Given the description of an element on the screen output the (x, y) to click on. 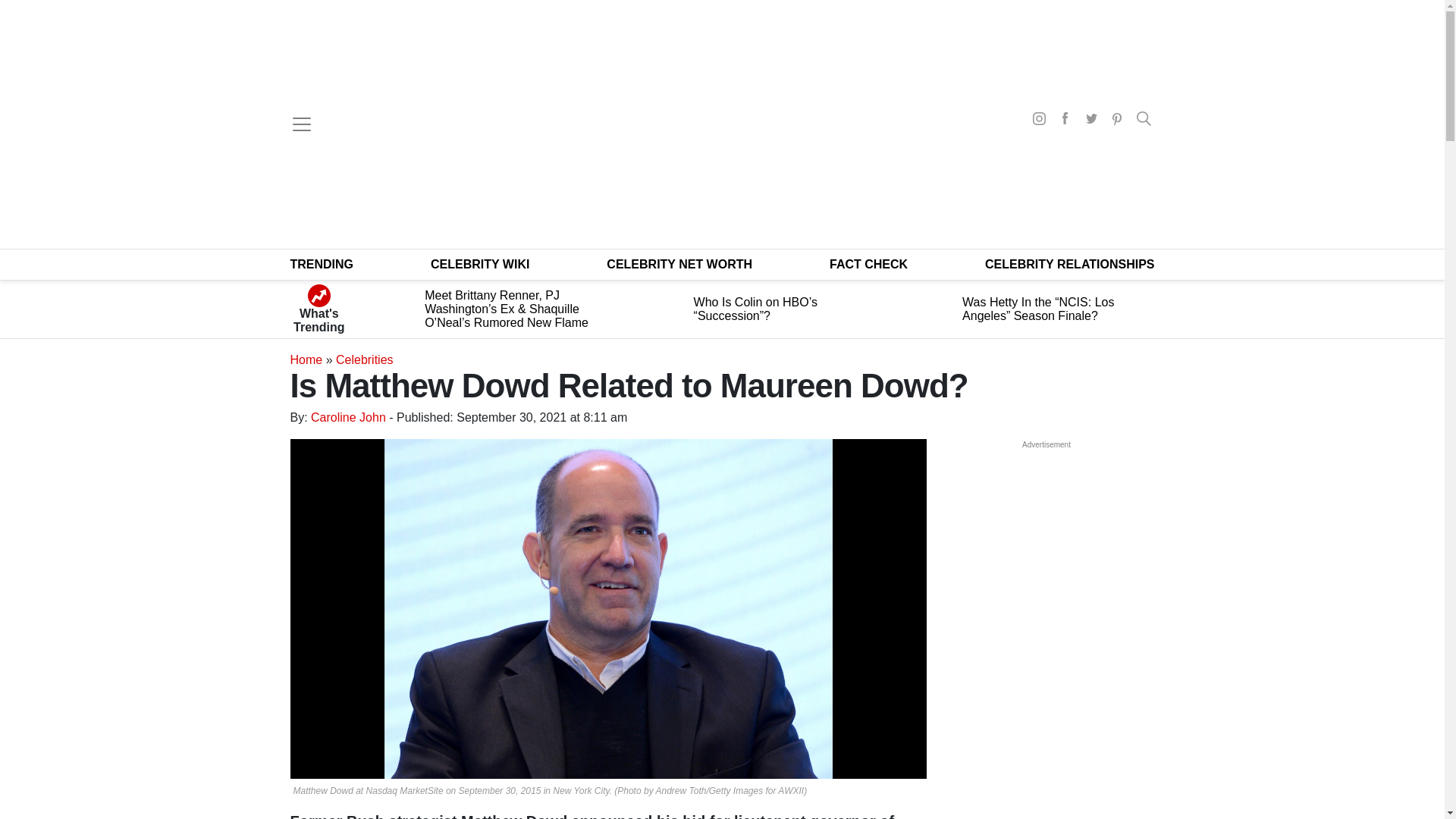
TRENDING (321, 264)
Caroline John (348, 417)
FACT CHECK (868, 264)
Home (305, 359)
CELEBRITY NET WORTH (679, 264)
Posts by Caroline John (348, 417)
Menu (301, 124)
CELEBRITY RELATIONSHIPS (1069, 264)
Celebrities (364, 359)
CELEBRITY WIKI (479, 264)
